Given the description of an element on the screen output the (x, y) to click on. 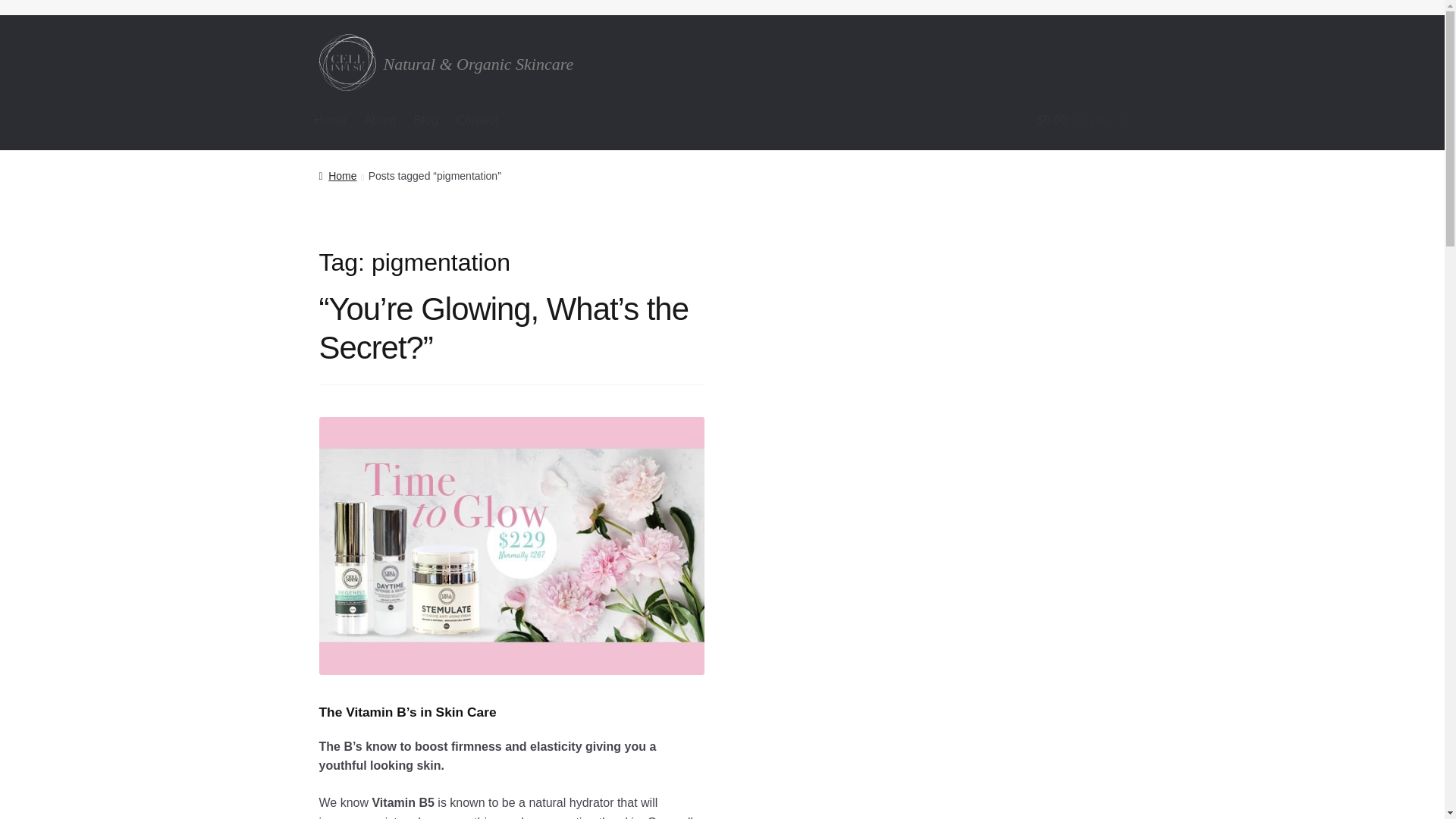
View your shopping cart (1002, 119)
Contact (476, 119)
Home (337, 175)
